Given the description of an element on the screen output the (x, y) to click on. 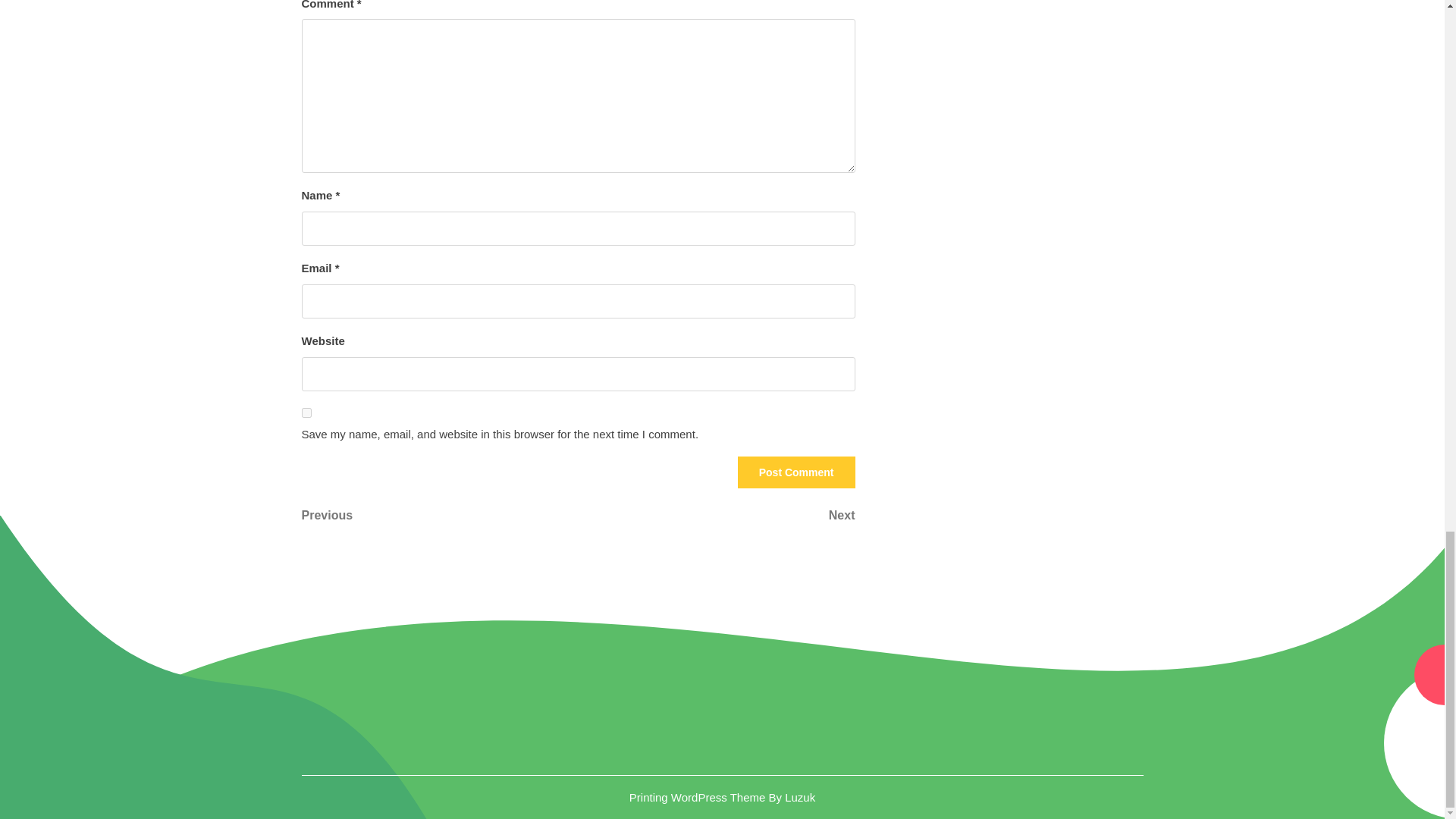
Post Comment (797, 472)
Post Comment (797, 472)
Printing WordPress Theme By Luzuk (439, 515)
yes (716, 515)
